Given the description of an element on the screen output the (x, y) to click on. 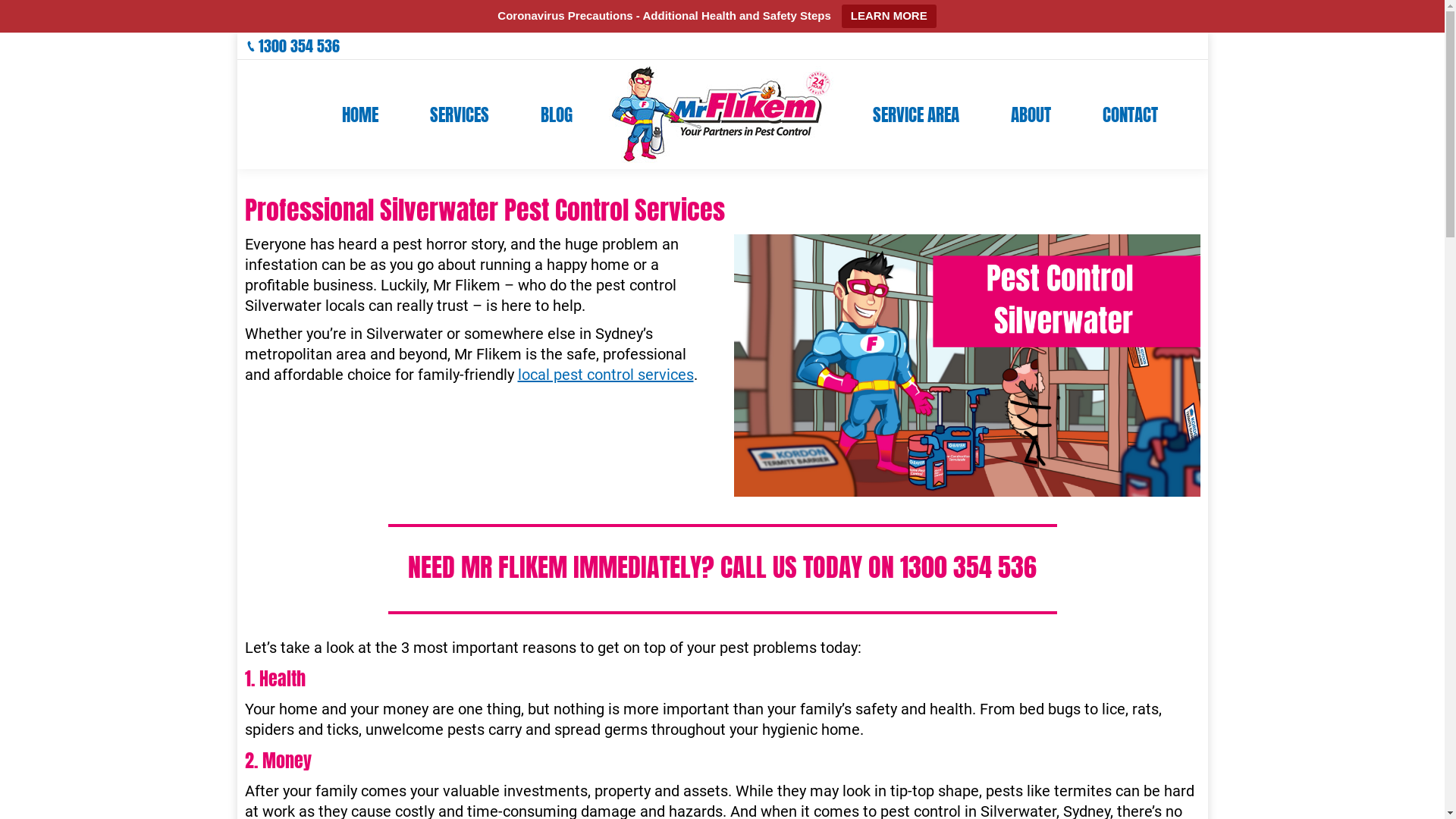
CONTACT Element type: text (1130, 114)
1300 354 536 Element type: text (968, 566)
ABOUT Element type: text (1029, 114)
BLOG Element type: text (555, 114)
HOME Element type: text (359, 114)
LEARN MORE Element type: text (888, 16)
SERVICES Element type: text (458, 114)
local pest control services Element type: text (605, 374)
SERVICE AREA Element type: text (914, 114)
1300 354 536 Element type: text (297, 45)
